Given the description of an element on the screen output the (x, y) to click on. 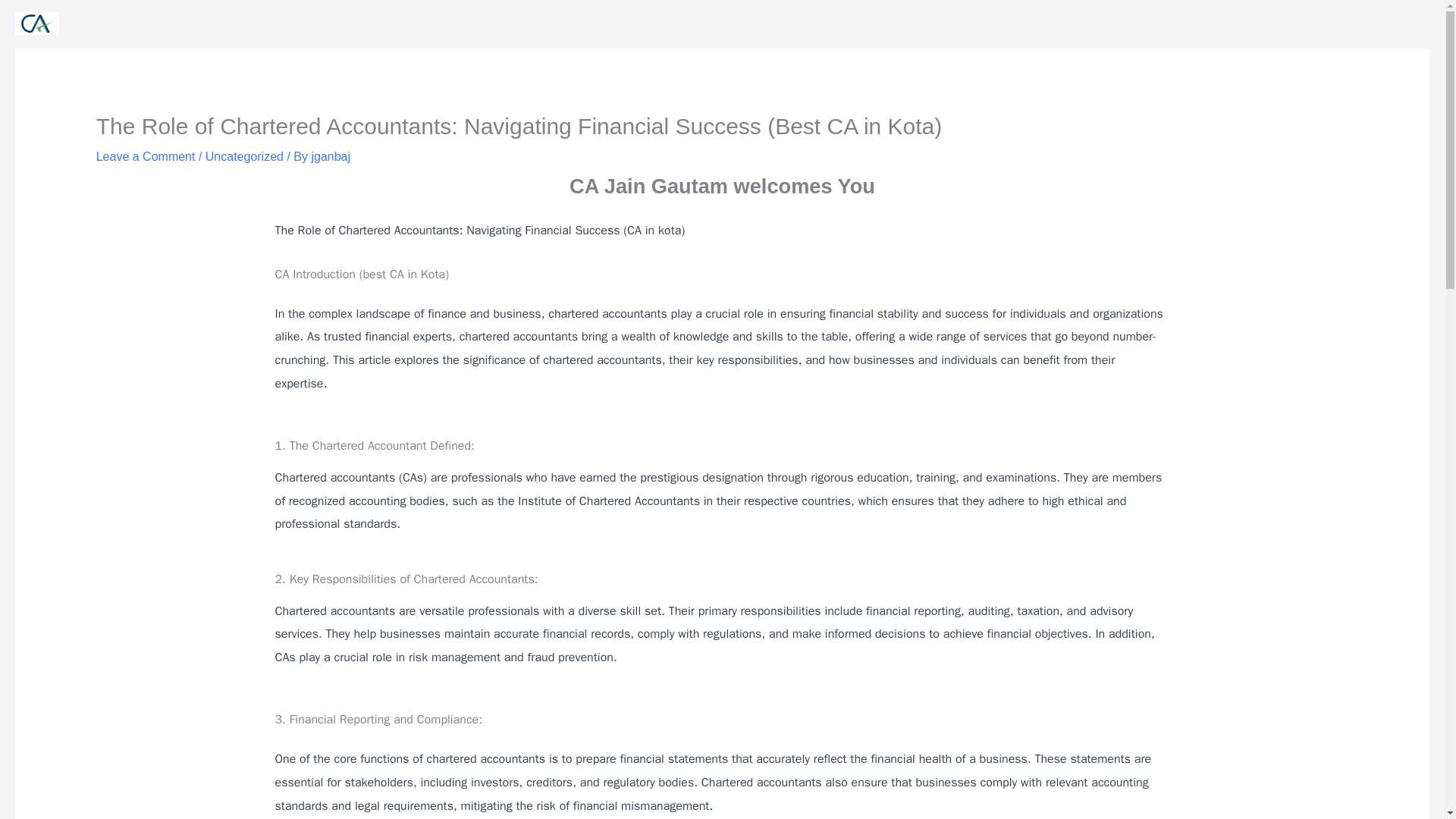
About (1108, 23)
Services (1172, 23)
View all posts by jganbaj (330, 155)
Uncategorized (244, 155)
Why choose us (1260, 23)
Blog (1404, 23)
Home (1053, 23)
jganbaj (330, 155)
Contact (1347, 23)
Leave a Comment (145, 155)
